Given the description of an element on the screen output the (x, y) to click on. 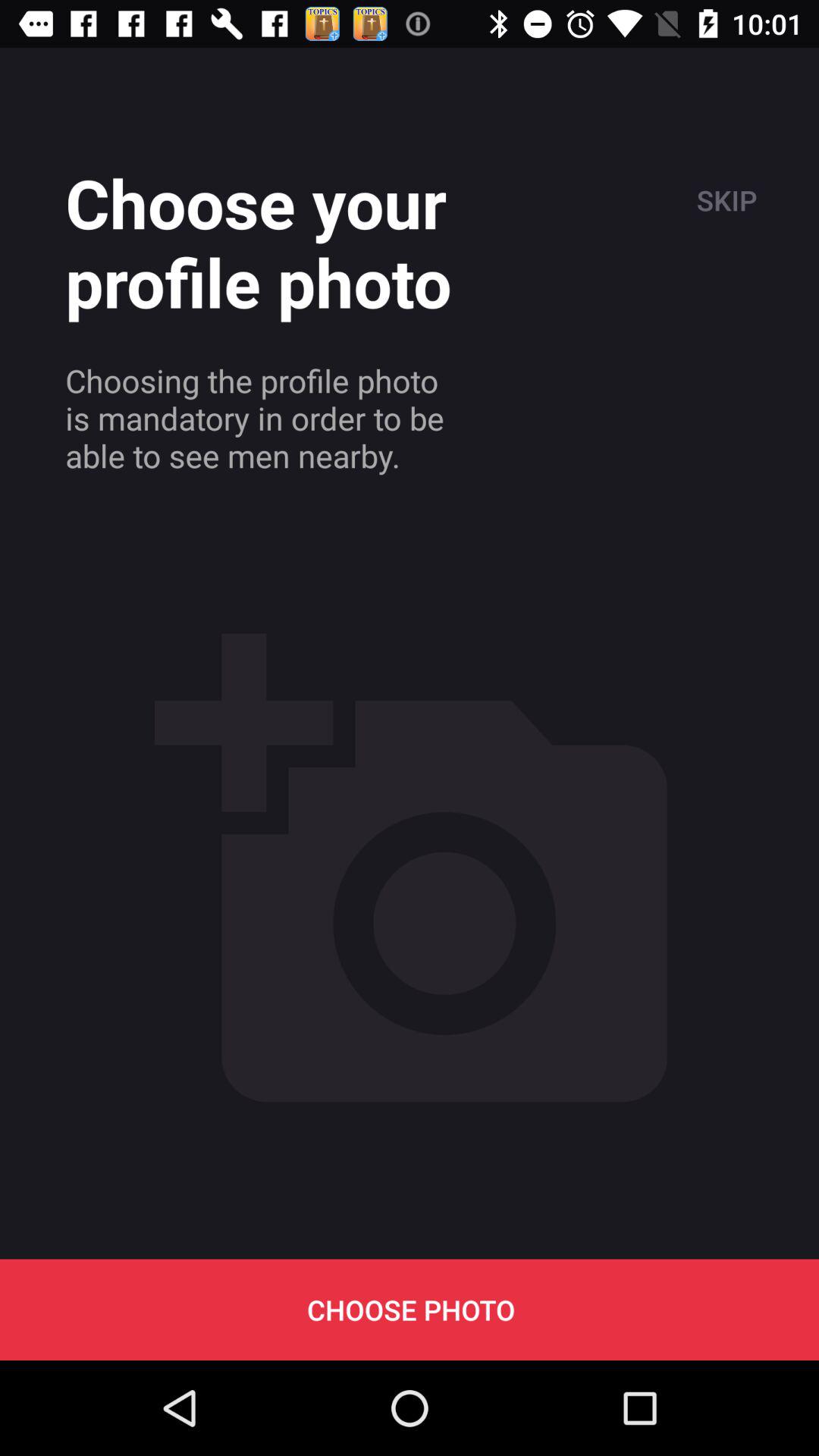
turn off skip item (725, 199)
